Given the description of an element on the screen output the (x, y) to click on. 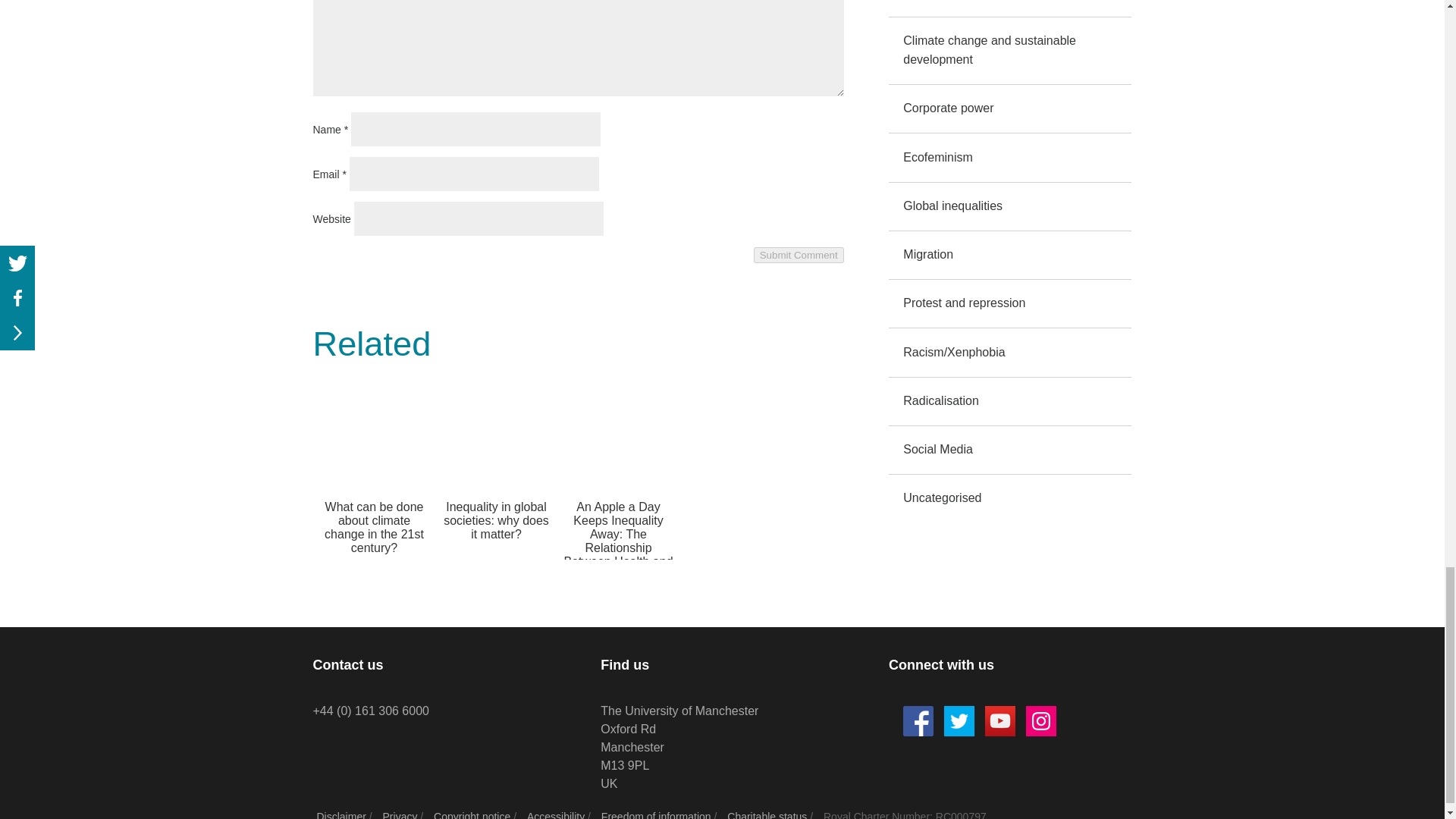
Submit Comment (799, 254)
